Given the description of an element on the screen output the (x, y) to click on. 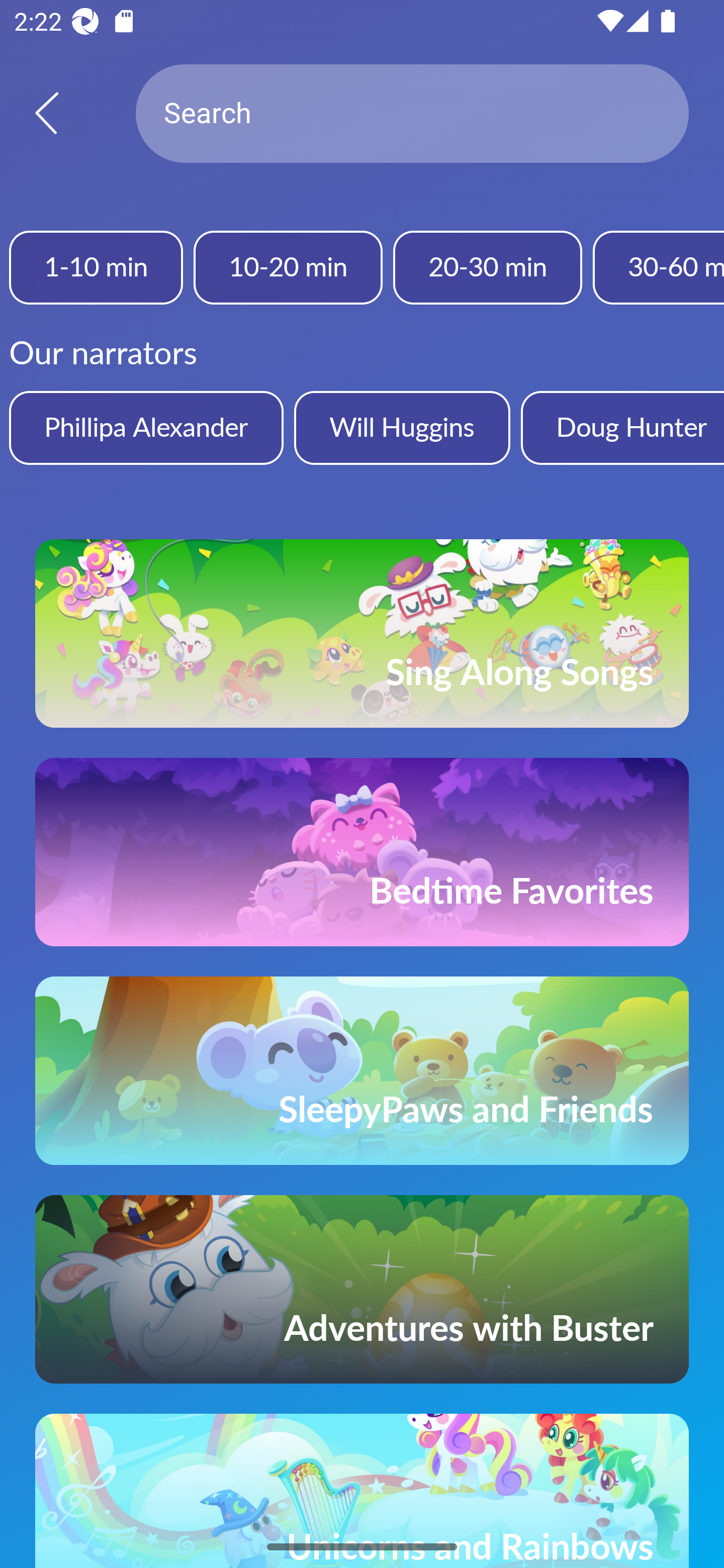
Search (412, 113)
1-10 min (95, 267)
10-20 min (287, 267)
20-30 min (487, 267)
30-60 min (658, 267)
Phillipa Alexander (145, 427)
Will Huggins (401, 427)
Doug Hunter (622, 427)
Sing Along Songs (361, 633)
Bedtime Favorites (361, 852)
SleepyPaws and Friends (361, 1070)
Adventures with Buster (361, 1288)
Unicorns and Rainbows (361, 1491)
